Given the description of an element on the screen output the (x, y) to click on. 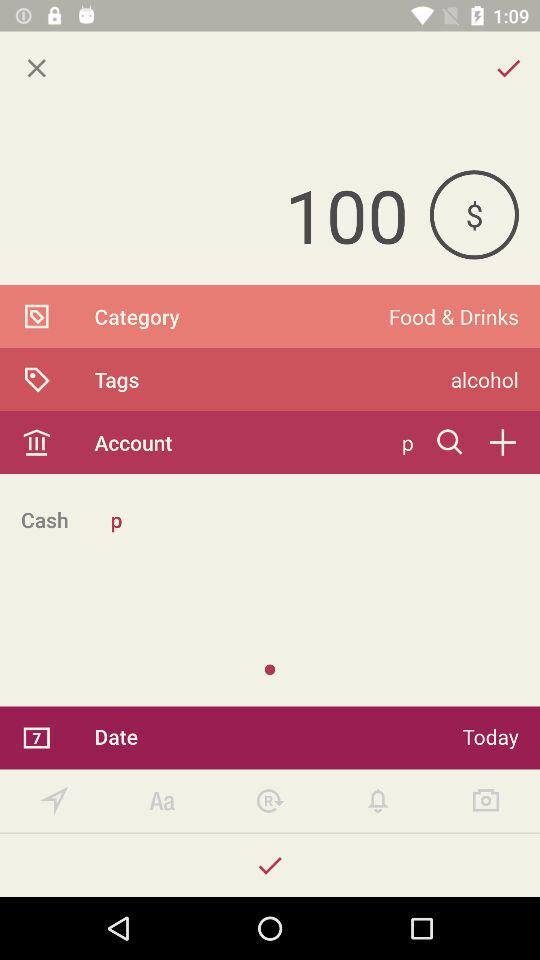
enter camera mode (486, 800)
